Given the description of an element on the screen output the (x, y) to click on. 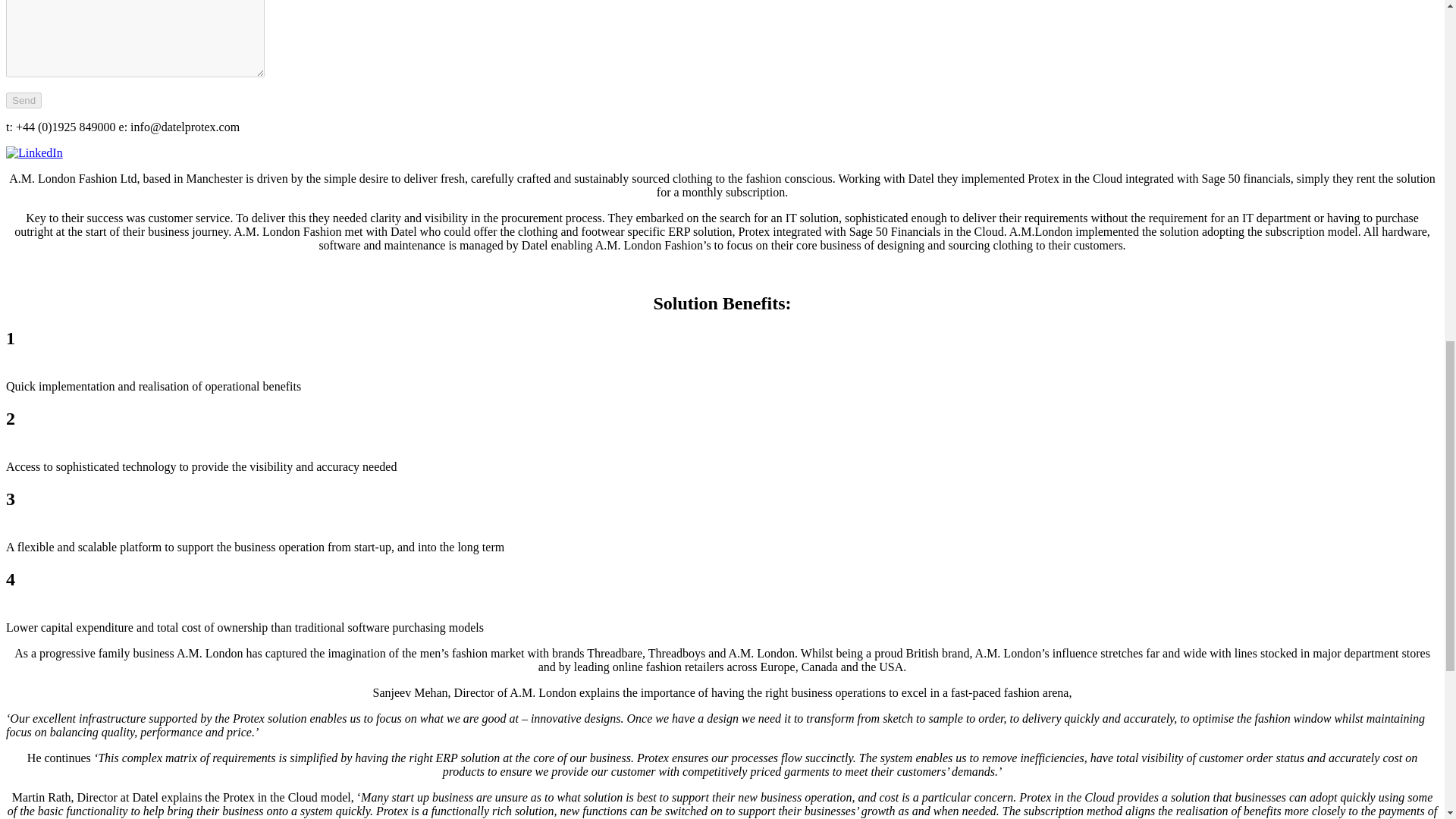
Send (23, 100)
Send (23, 100)
